Given the description of an element on the screen output the (x, y) to click on. 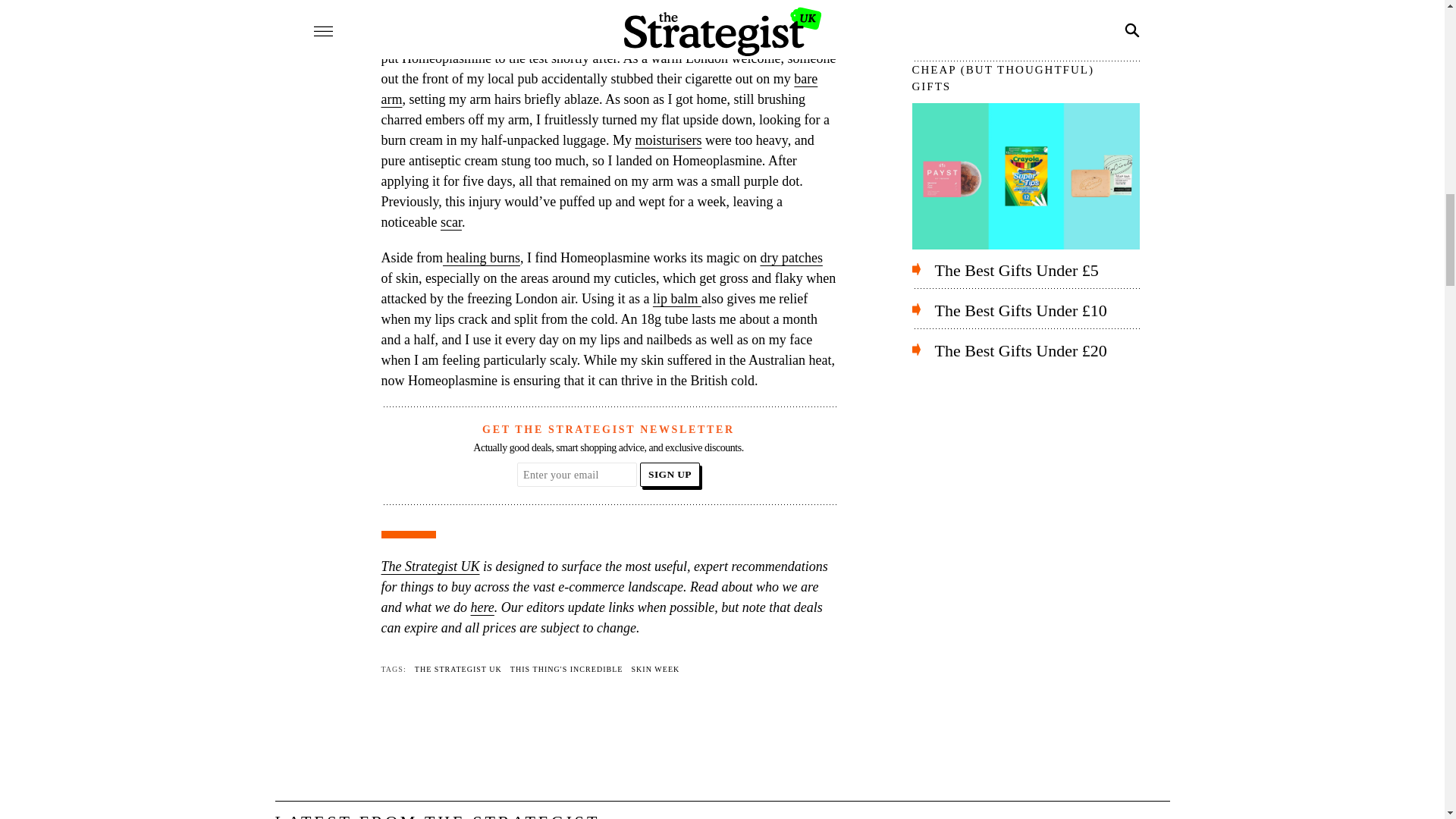
Sign up (670, 474)
